Given the description of an element on the screen output the (x, y) to click on. 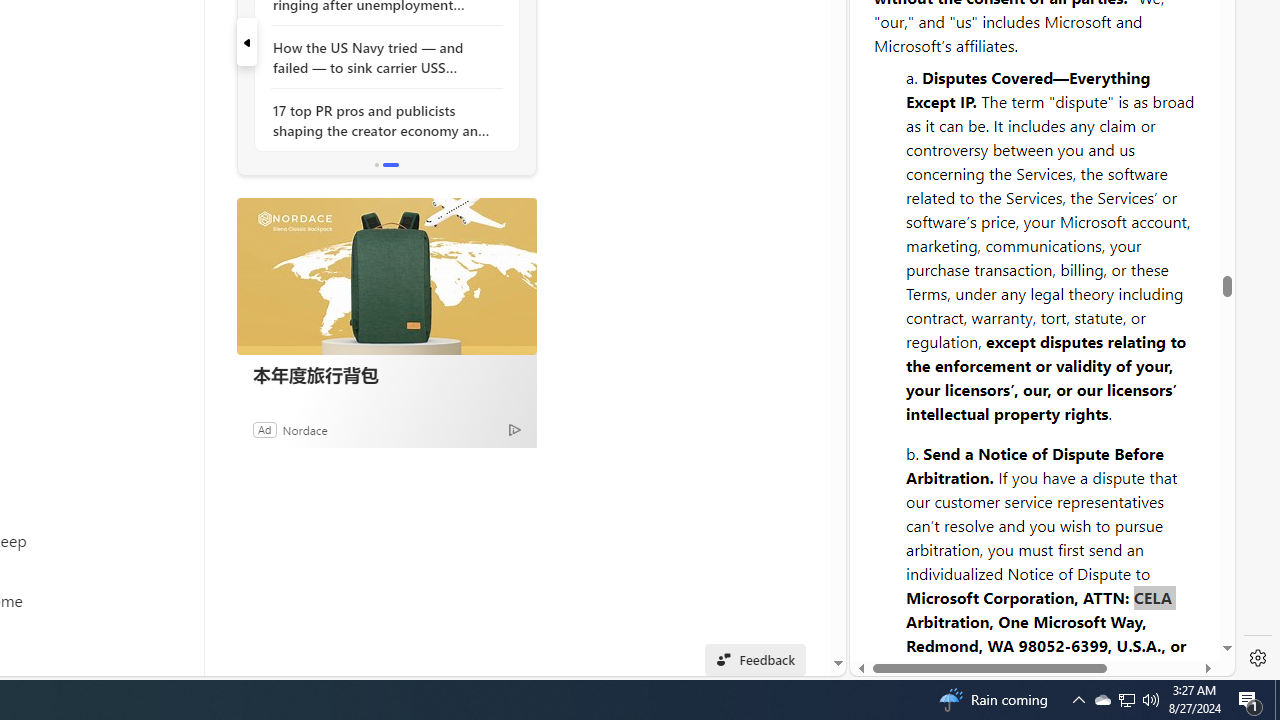
Feedback (1154, 611)
Legal (992, 611)
Legal (991, 602)
Privacy (922, 611)
previous (246, 42)
Advertise (1066, 602)
Nordace (304, 429)
Settings (1258, 658)
Ad Choice (514, 429)
Advertise (1067, 611)
